Given the description of an element on the screen output the (x, y) to click on. 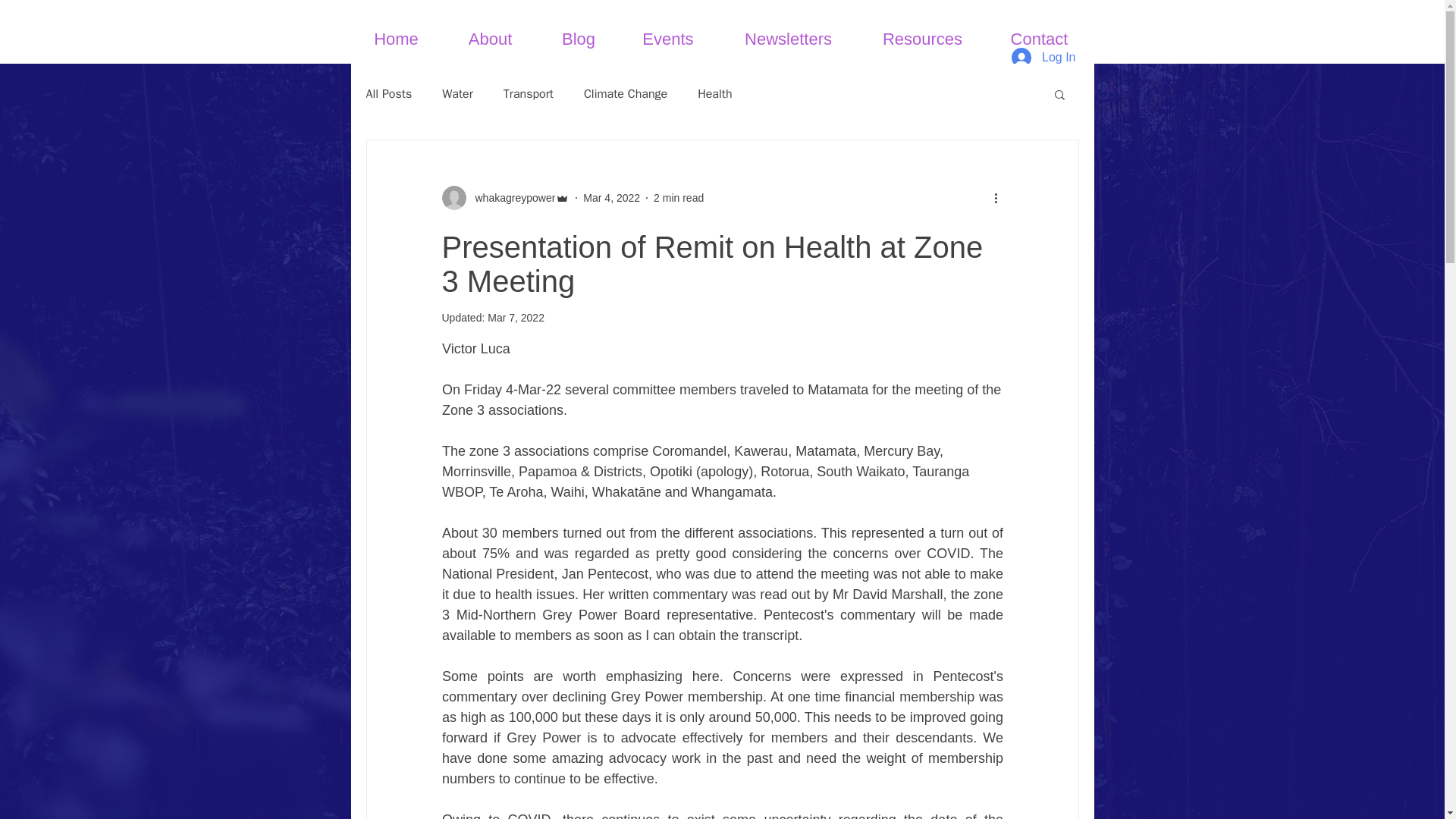
Mar 4, 2022 (611, 196)
Log In (1043, 57)
Contact (1039, 39)
whakagreypower (509, 197)
Water (457, 94)
Health (714, 94)
2 min read (678, 196)
About (490, 39)
Events (667, 39)
All Posts (388, 94)
